Given the description of an element on the screen output the (x, y) to click on. 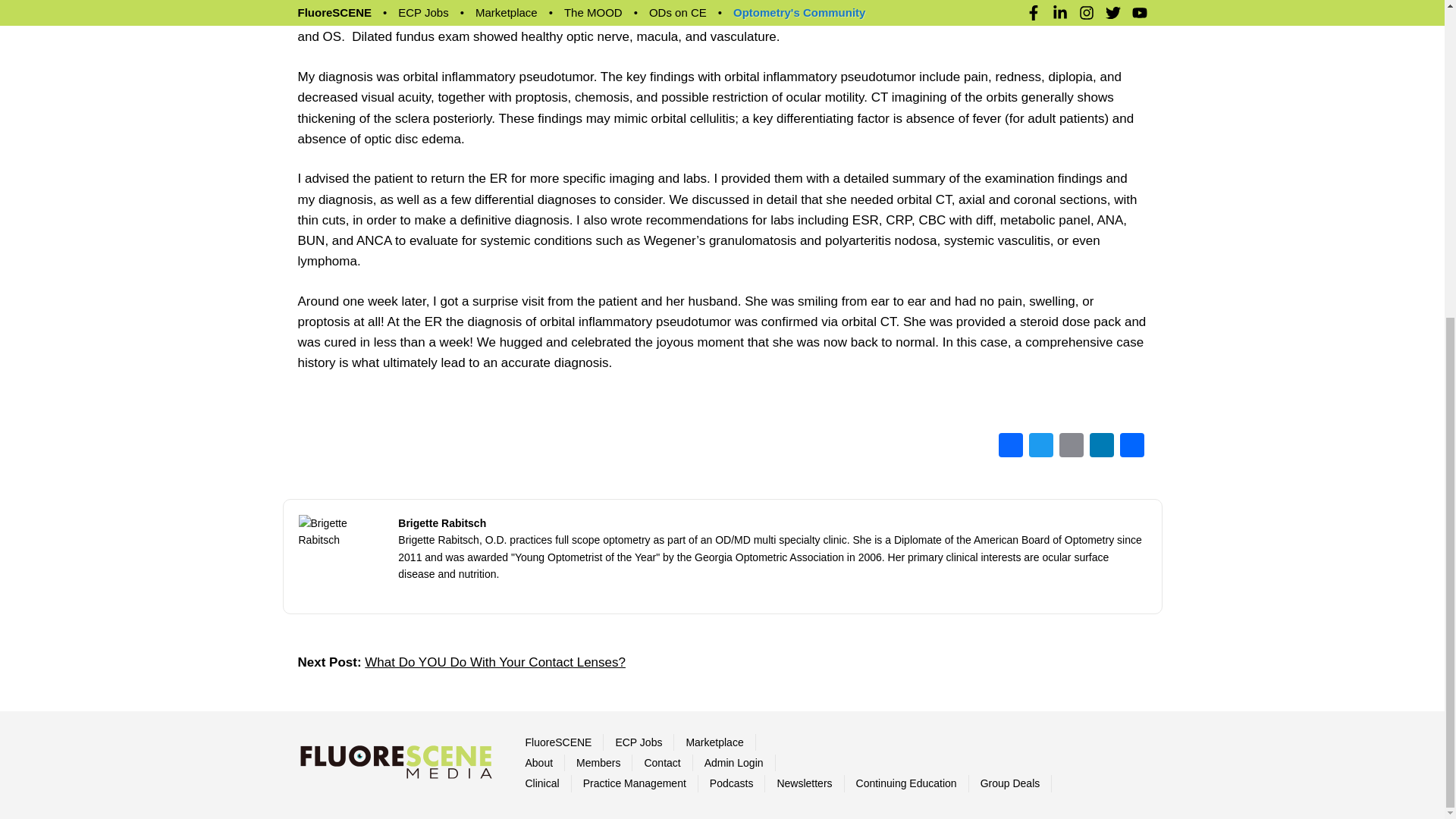
Marketplace (713, 742)
FluoreSCENE (557, 742)
About (538, 762)
LinkedIn (1101, 447)
Clinical (541, 783)
Facebook (1009, 447)
Email (1070, 447)
Share (1131, 447)
Email (1070, 447)
Members (598, 762)
